Given the description of an element on the screen output the (x, y) to click on. 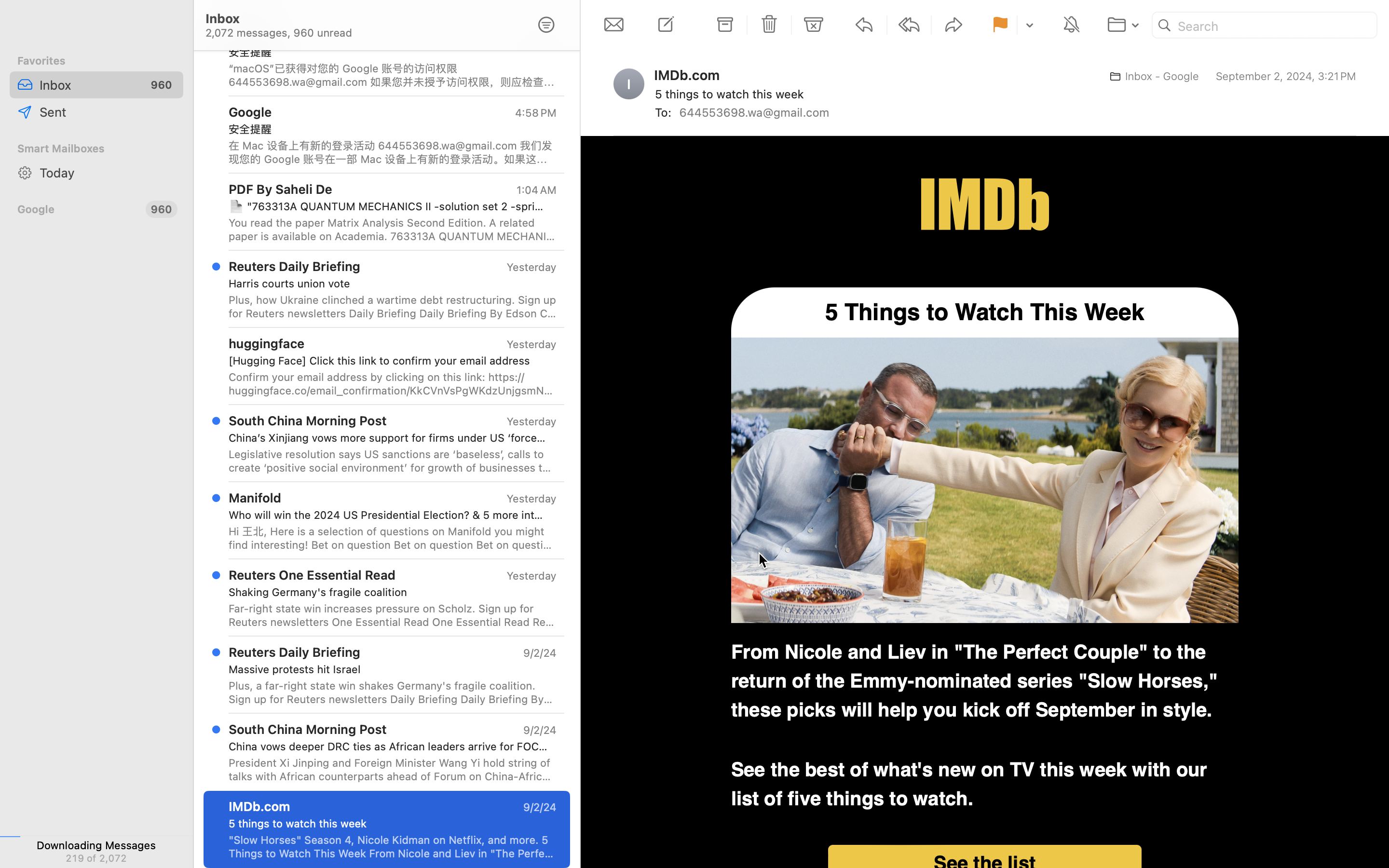
Manifold Element type: AXStaticText (254, 497)
5 Things to Watch This Week Element type: AXStaticText (984, 311)
President Xi Jinping and Foreign Minister Wang Yi hold string of talks with African counterparts ahead of Forum on China-Africa ... - South China Morning Post, SCMP, SCMP Today: Intl Edition - President Xi Jinping and Foreign Minister Wang Yi hold string of talks with African counterparts ahead of Forum on China-Africa ... Monday 2nd September, 2024 China politics & diplomacy ChinaChina vows deeper DRC ties as African leaders arrive for FOCAC meetings2 Sep, 2024 - 05:13 pmPresident Xi Jinping and Foreign Minister Wang Yi hold string of talks with African counterparts ahead of Forum on China-Africa Cooperation. EconomyChina moves to curb money worship, extravagance and excess in financial sector2 Sep, 2024 - 04:04 pm EconomyChina’s yuan to continue to gain, but outlook hinges on Fed rate cuts: analysts2 Sep, 2024 - 05:42 pm Featured Podcast3. Millennials, GenZ and hire education Video Of The Day Hong Kong’s youngest Paralympic medallist Jasmine Ng clinches swimming bronze at age 14OPINI Element type: AXStaticText (392, 769)
￼Inbox - Google Element type: AXStaticText (1150, 75)
Legislative resolution says US sanctions are ‘baseless’, calls to create ‘positive social environment’ for growth of businesses targeted. - South China Morning Post, SCMP, SCMP Today: Intl Edition - Legislative resolution says US sanctions are ‘baseless’, calls to create ‘positive social environment’ for growth of businesses targeted. Tuesday 3rd September, 2024 China politics & diplomacy ChinaChina’s Xinjiang vows more support for firms under US ‘forced labour’ sanctions3 Sep, 2024 - 04:36 pmLegislative resolution says US sanctions are ‘baseless’, calls to create ‘positive social environment’ for growth of businesses targeted. China11 dead in eastern China, driver detained after bus hits crowd outside school3 Sep, 2024 - 04:43 pm ChinaChinese researchers’ implant genetically modifies brain cells for neuron growth3 Sep, 2024 - 04:06 pm Featured Podcast3. Millennials, GenZ and hire education Video Of The Day China and Singapore embark on bigger joint navy exercise as South China Sea ten Element type: AXStaticText (392, 460)
